Given the description of an element on the screen output the (x, y) to click on. 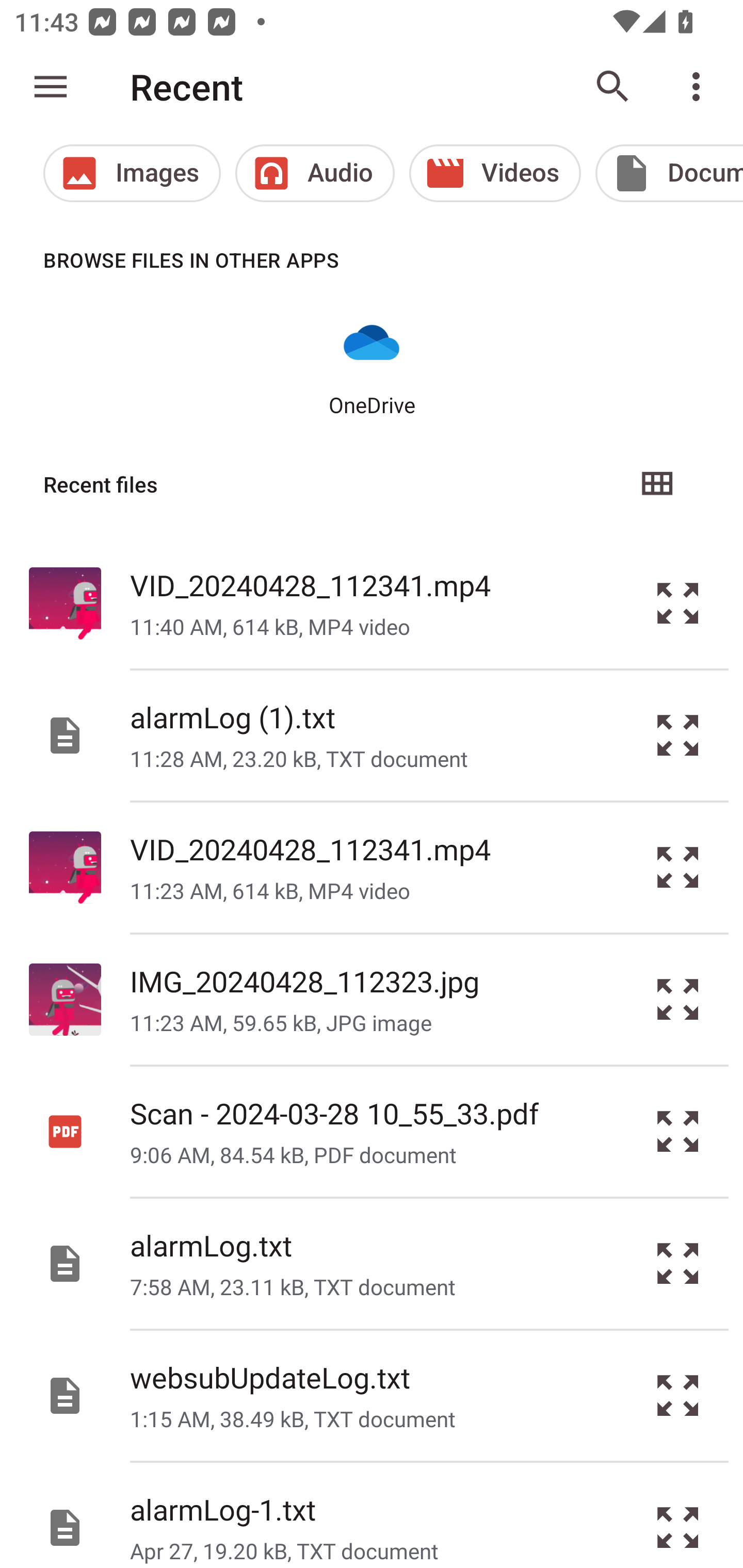
Show roots (50, 86)
Search (612, 86)
More options (699, 86)
Images (131, 173)
Audio (314, 173)
Videos (495, 173)
Documents (669, 173)
OneDrive (371, 365)
Grid view (655, 484)
Preview the file VID_20240428_112341.mp4 (677, 602)
Preview the file alarmLog (1).txt (677, 736)
Preview the file VID_20240428_112341.mp4 (677, 867)
Preview the file IMG_20240428_112323.jpg (677, 999)
Preview the file Scan - 2024-03-28 10_55_33.pdf (677, 1131)
Preview the file alarmLog.txt (677, 1262)
Preview the file websubUpdateLog.txt (677, 1396)
Preview the file alarmLog-1.txt (677, 1515)
